Given the description of an element on the screen output the (x, y) to click on. 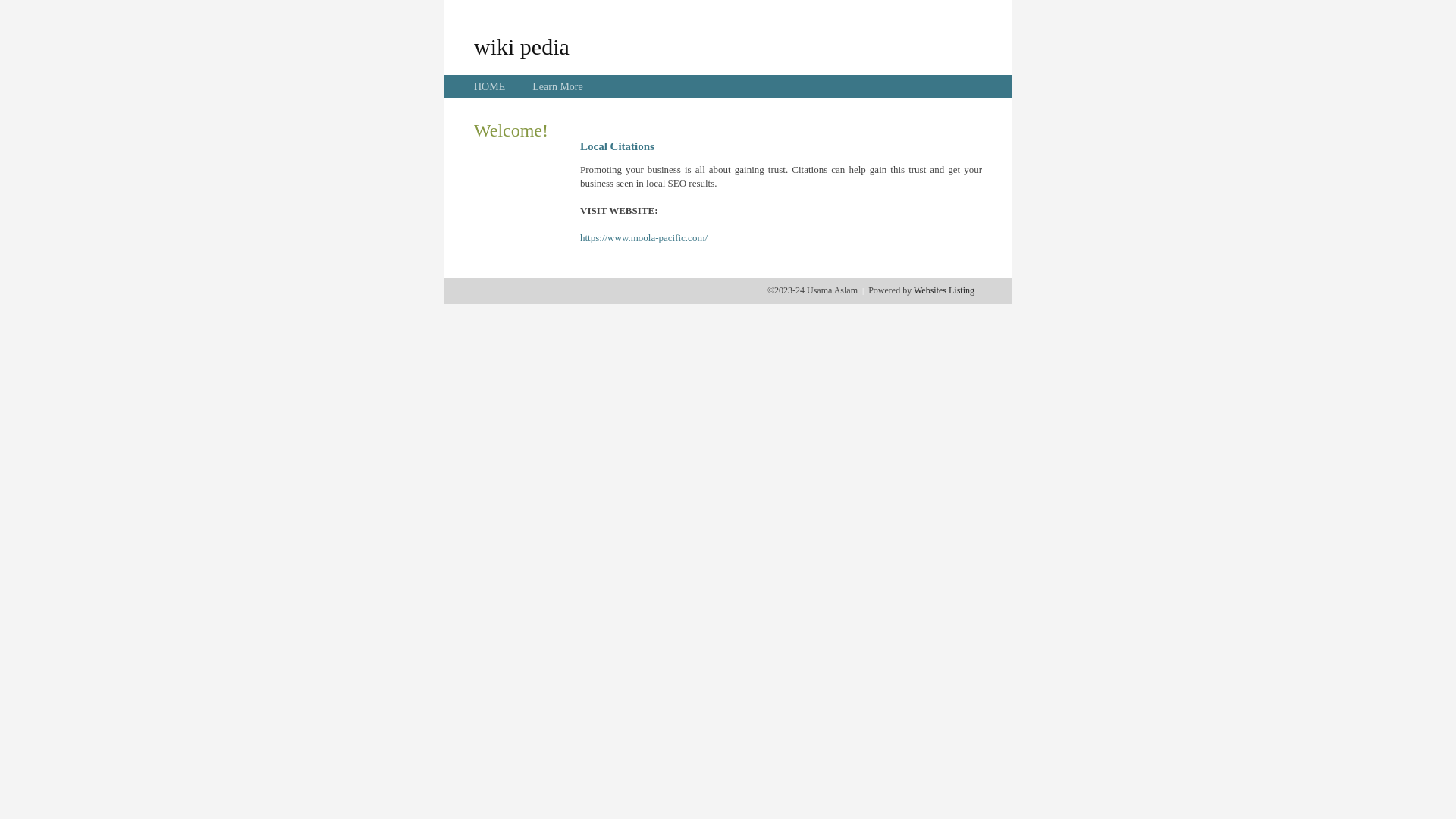
HOME Element type: text (489, 86)
Websites Listing Element type: text (943, 290)
wiki pedia Element type: text (521, 46)
Learn More Element type: text (557, 86)
https://www.moola-pacific.com/ Element type: text (643, 237)
